Given the description of an element on the screen output the (x, y) to click on. 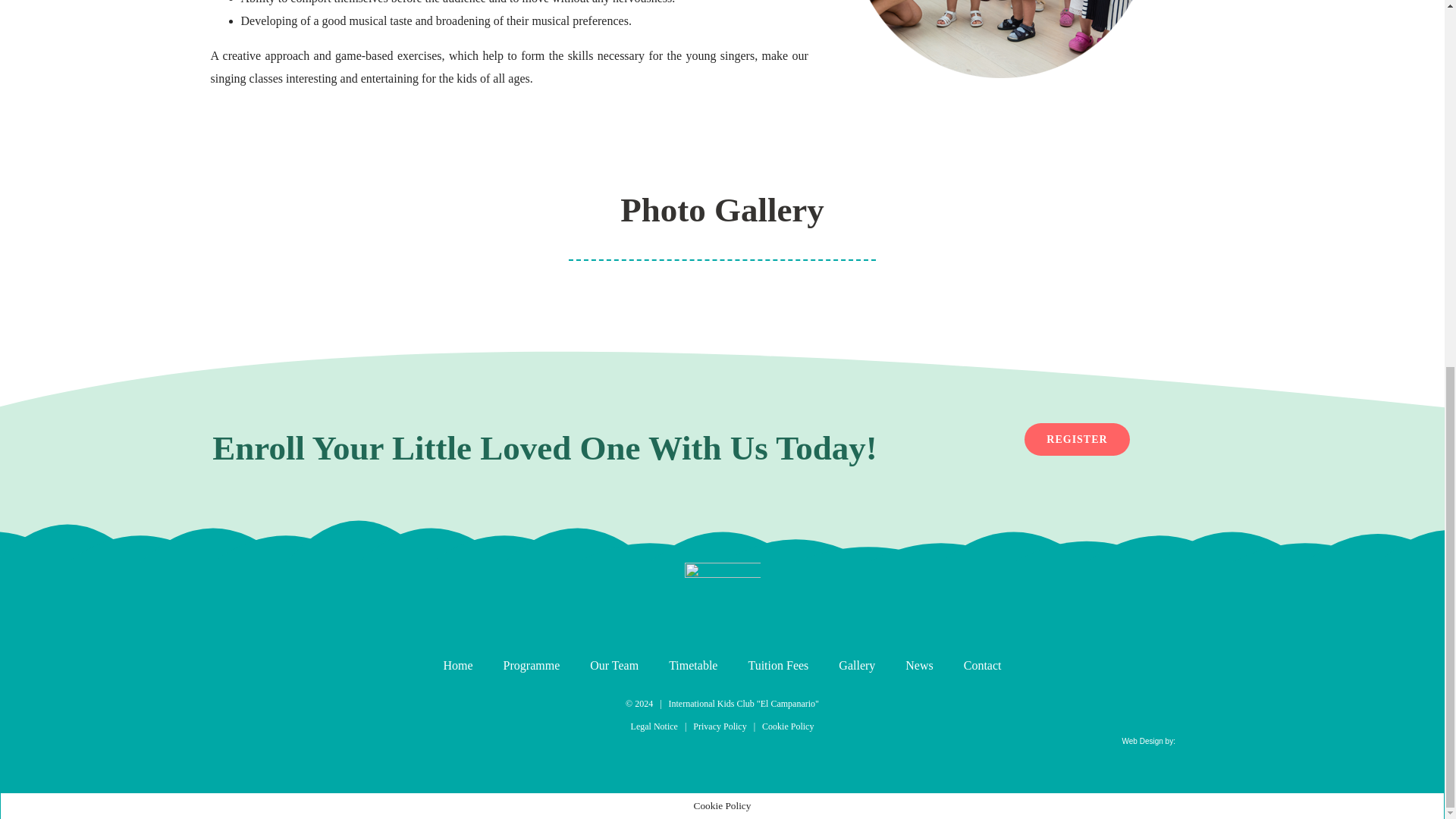
Gallery (871, 665)
Home (472, 665)
News (933, 665)
Legal Notice (654, 726)
Timetable (708, 665)
Cookie Policy (787, 726)
REGISTER (1077, 439)
music-lessons (1000, 40)
Programme (547, 665)
Privacy Policy (719, 726)
Our Team (628, 665)
Contact (982, 665)
Tuition Fees (793, 665)
